Given the description of an element on the screen output the (x, y) to click on. 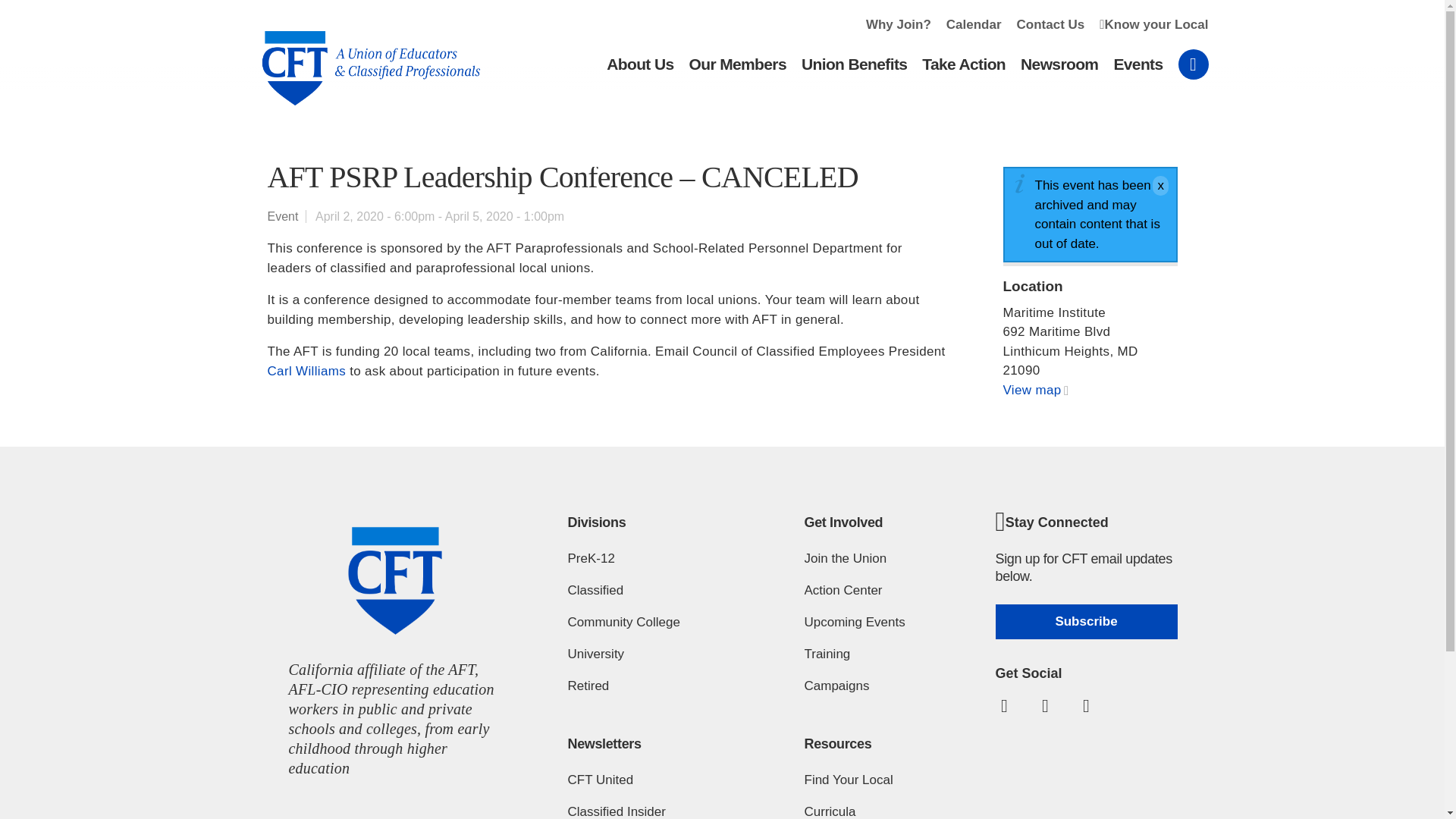
Our Members (737, 74)
Back to home (362, 56)
About Us (639, 74)
Our Members (737, 74)
Union Benefits (854, 74)
Take Action (963, 74)
About Us (639, 74)
Search (1192, 64)
